Given the description of an element on the screen output the (x, y) to click on. 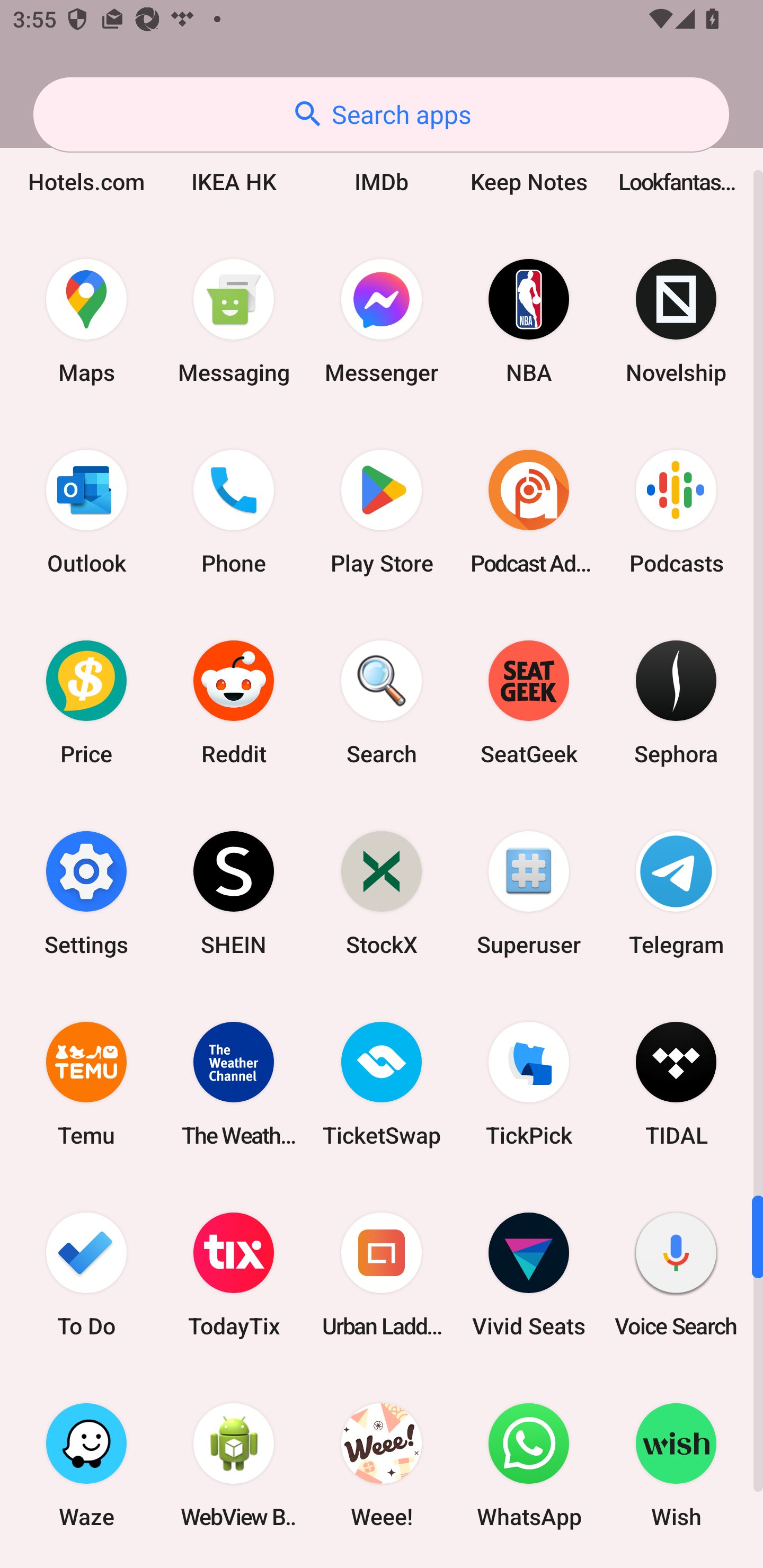
To Do (86, 1274)
